Given the description of an element on the screen output the (x, y) to click on. 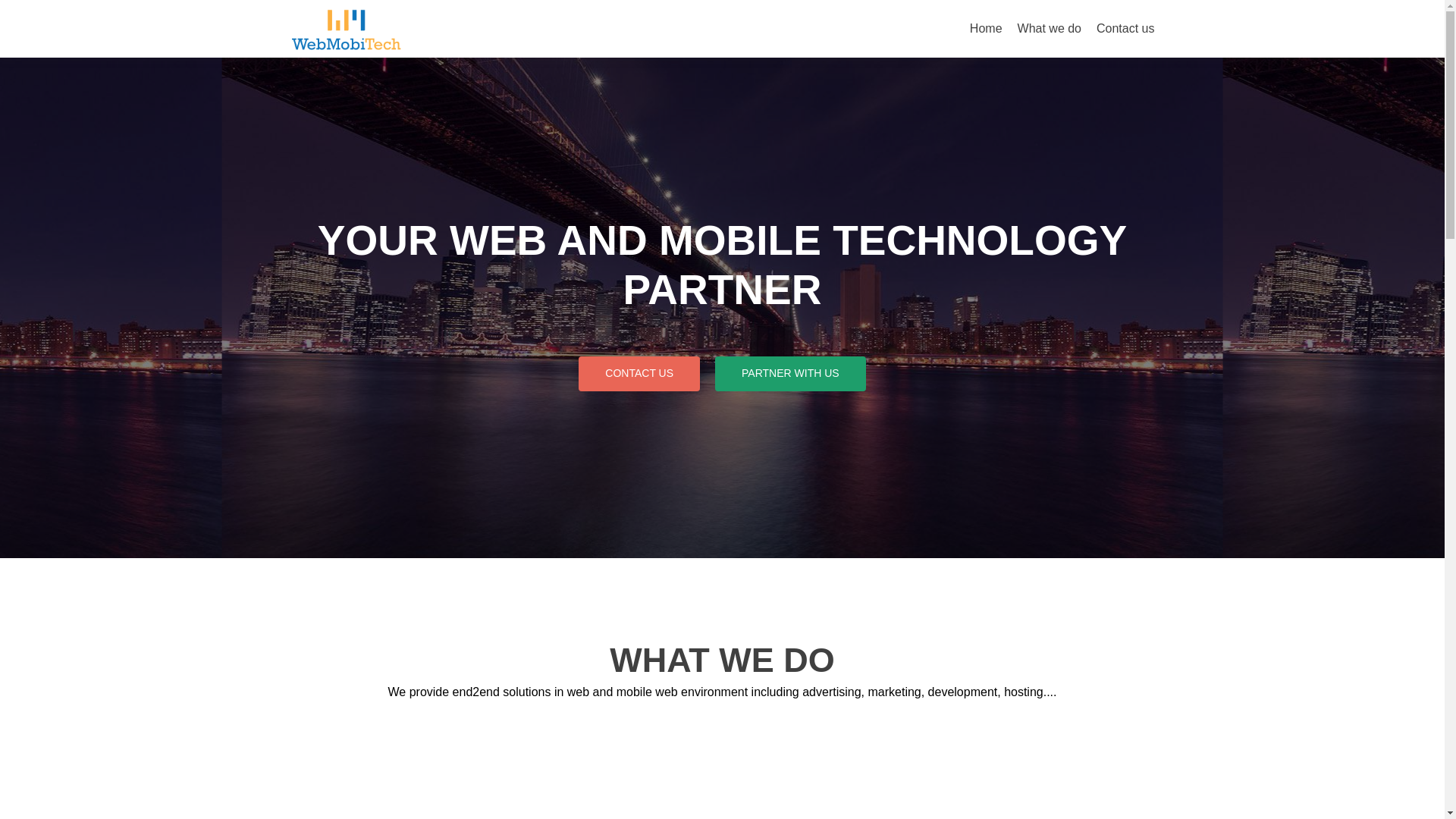
Contact us (1125, 28)
CONTACT US (639, 373)
Home (986, 28)
Skip to content (1009, 9)
PARTNER WITH US (790, 373)
What we do (1049, 28)
